Given the description of an element on the screen output the (x, y) to click on. 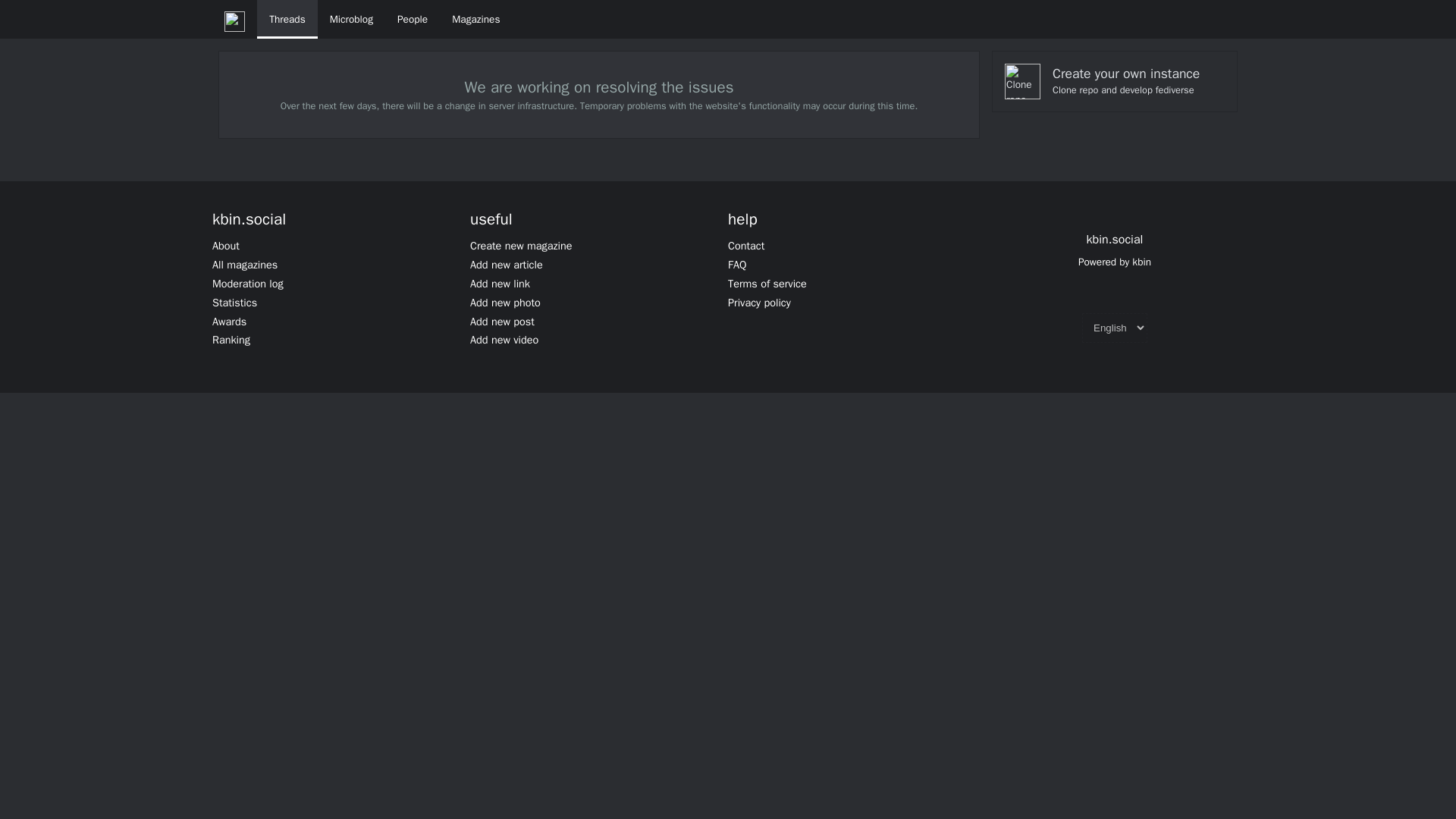
Create new magazine (521, 245)
Threads (287, 19)
Privacy policy (759, 302)
FAQ (736, 264)
Ranking (231, 339)
Magazines (475, 19)
Terms of service (767, 283)
Add new link (499, 283)
About (226, 245)
Add new photo (505, 302)
kbin (1141, 261)
Statistics (234, 302)
Contact (746, 245)
All magazines (245, 264)
Moderation log (247, 283)
